Given the description of an element on the screen output the (x, y) to click on. 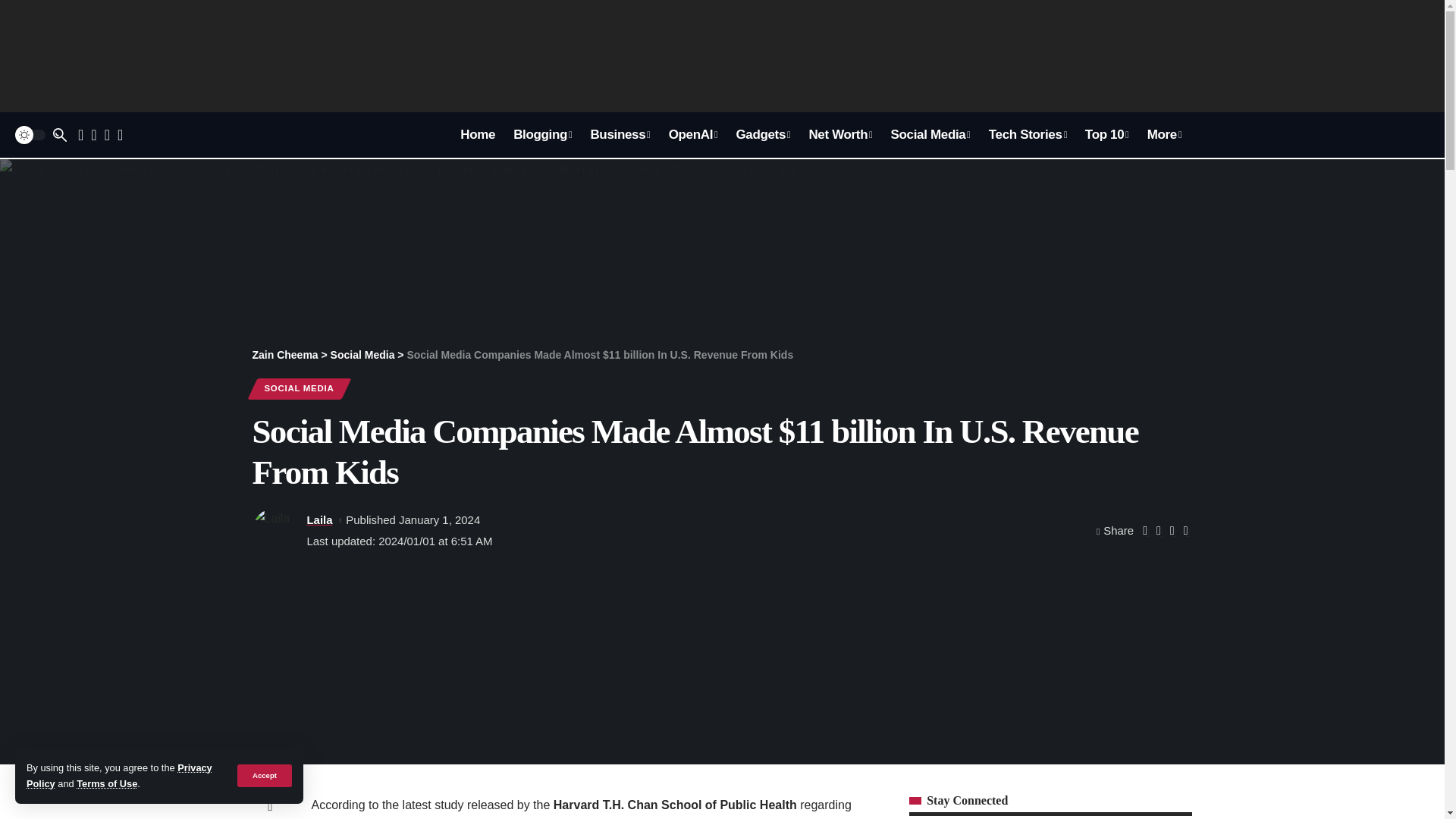
Advertisement (722, 56)
Blogging (541, 135)
OpenAI (692, 135)
Terms of Use (106, 783)
Business (619, 135)
Accept (264, 775)
Privacy Policy (119, 775)
Home (477, 135)
